Given the description of an element on the screen output the (x, y) to click on. 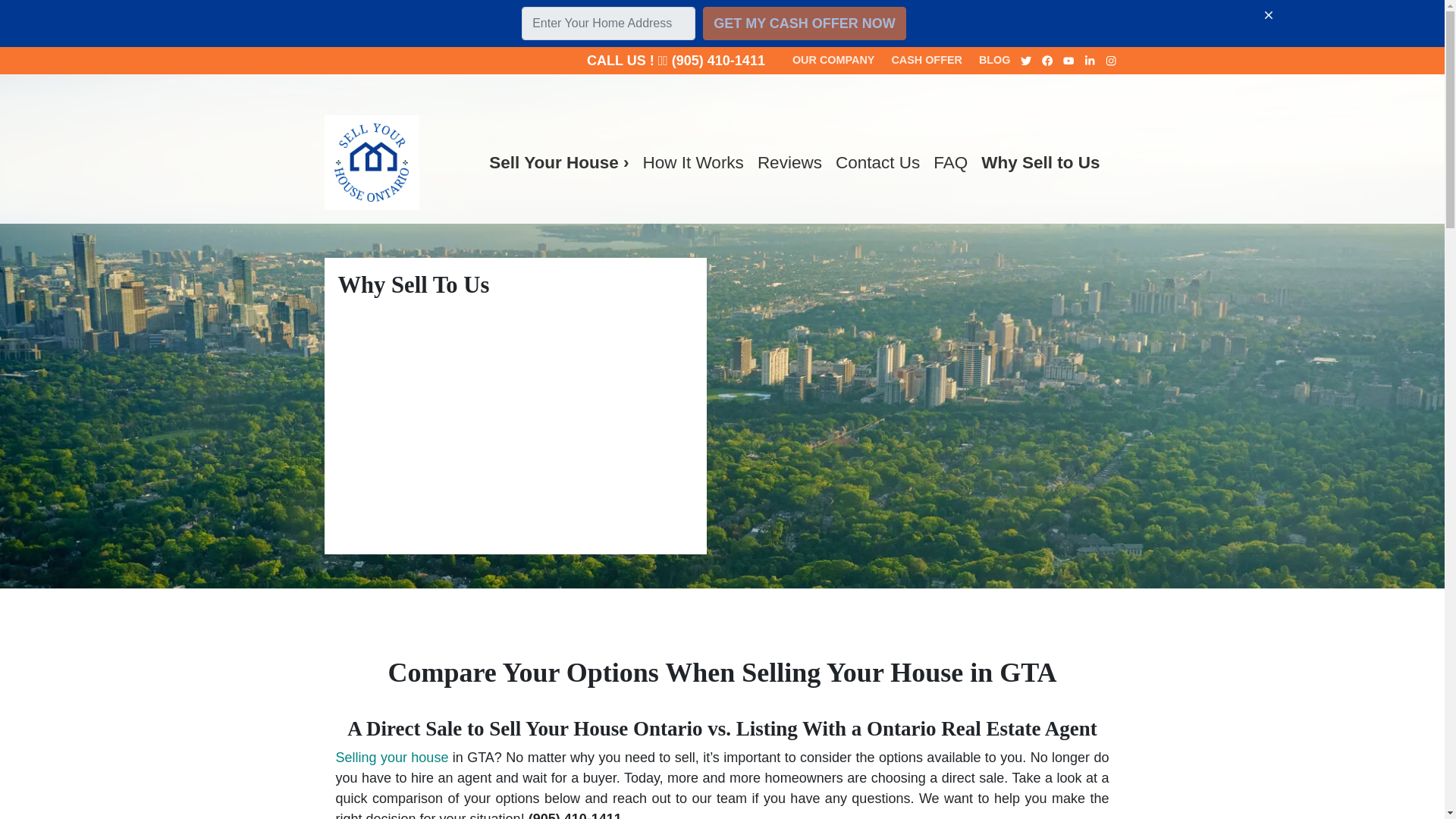
TWITTER (1026, 60)
YOUTUBE (1068, 60)
LINKEDIN (1090, 60)
BLOG (994, 60)
Reviews (789, 162)
FACEBOOK (1048, 60)
Why Sell to Us (1040, 162)
FAQ (950, 162)
Contact Us (877, 162)
Reviews (789, 162)
